Given the description of an element on the screen output the (x, y) to click on. 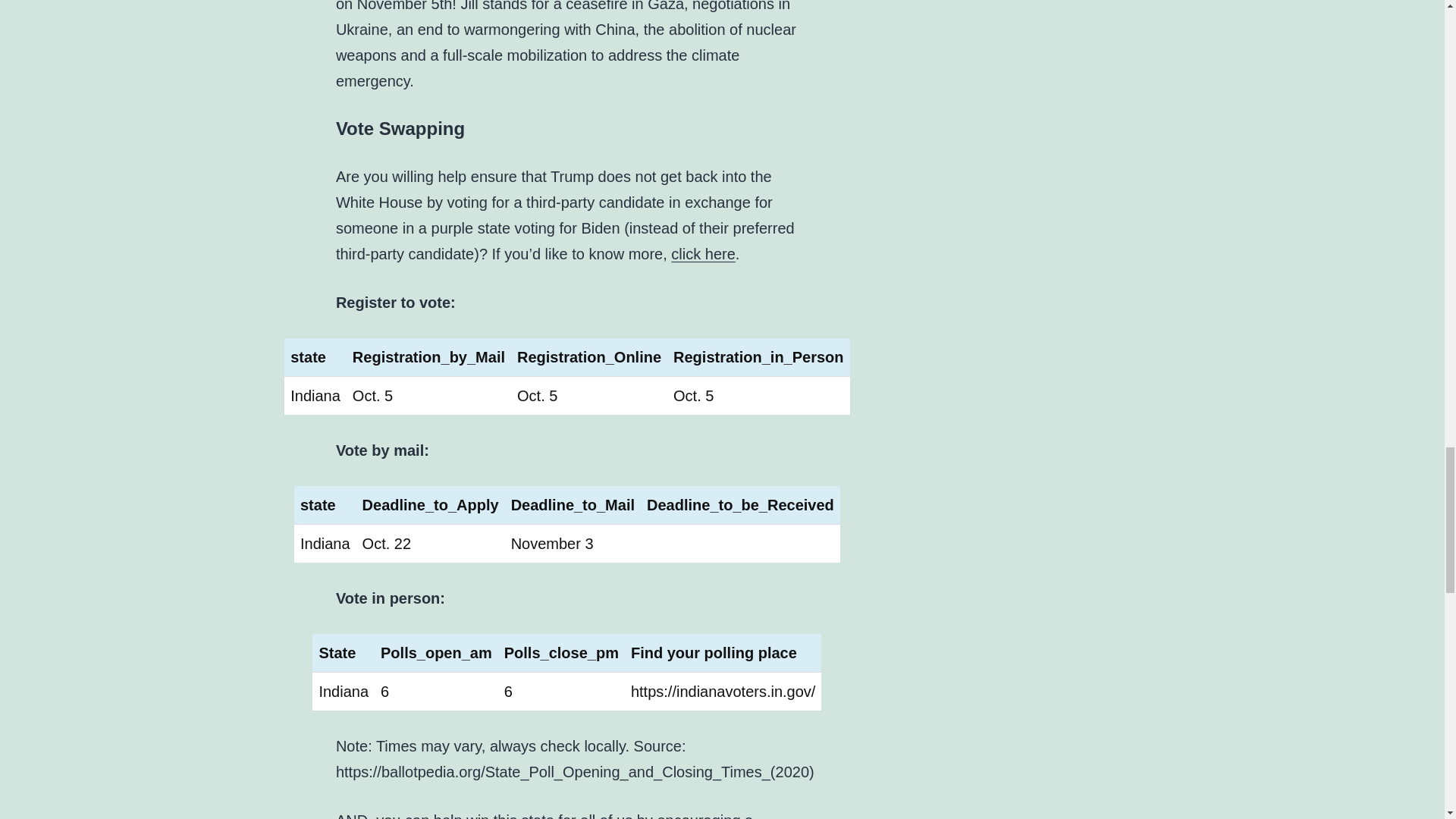
click here (703, 253)
